Given the description of an element on the screen output the (x, y) to click on. 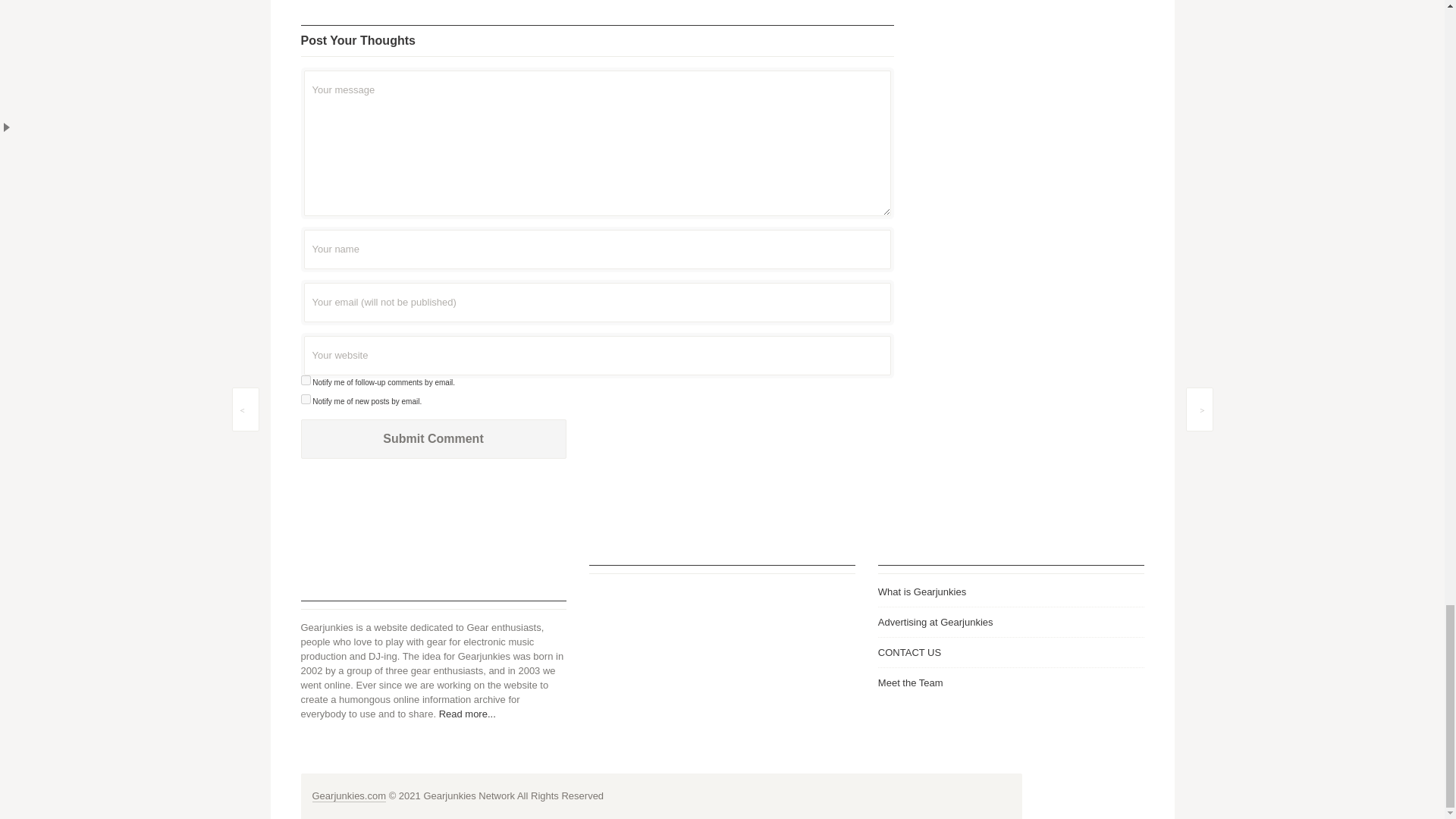
Submit Comment (432, 438)
subscribe (304, 379)
subscribe (304, 398)
